Given the description of an element on the screen output the (x, y) to click on. 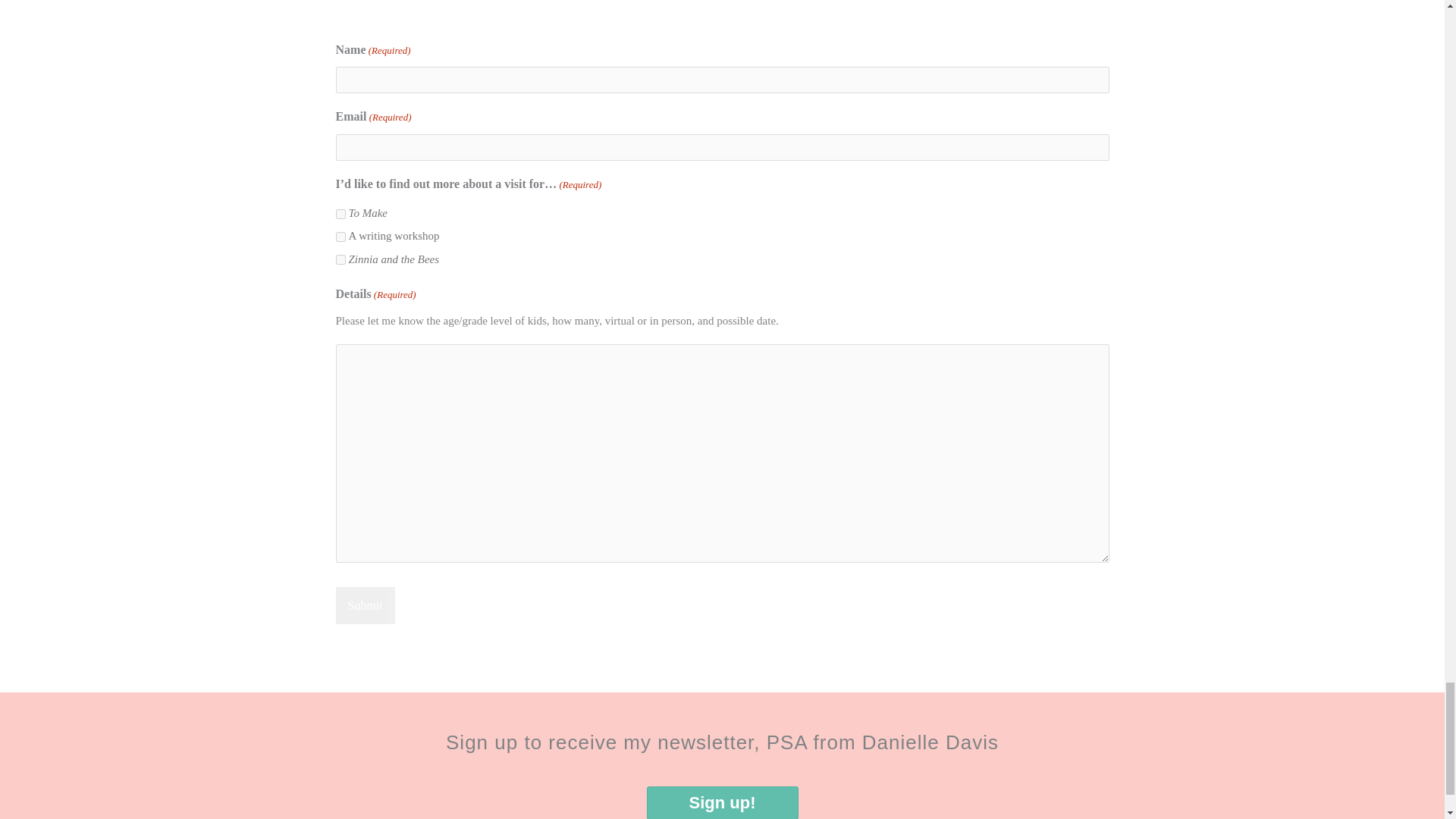
A writing workshop (339, 236)
Submit (364, 605)
